Given the description of an element on the screen output the (x, y) to click on. 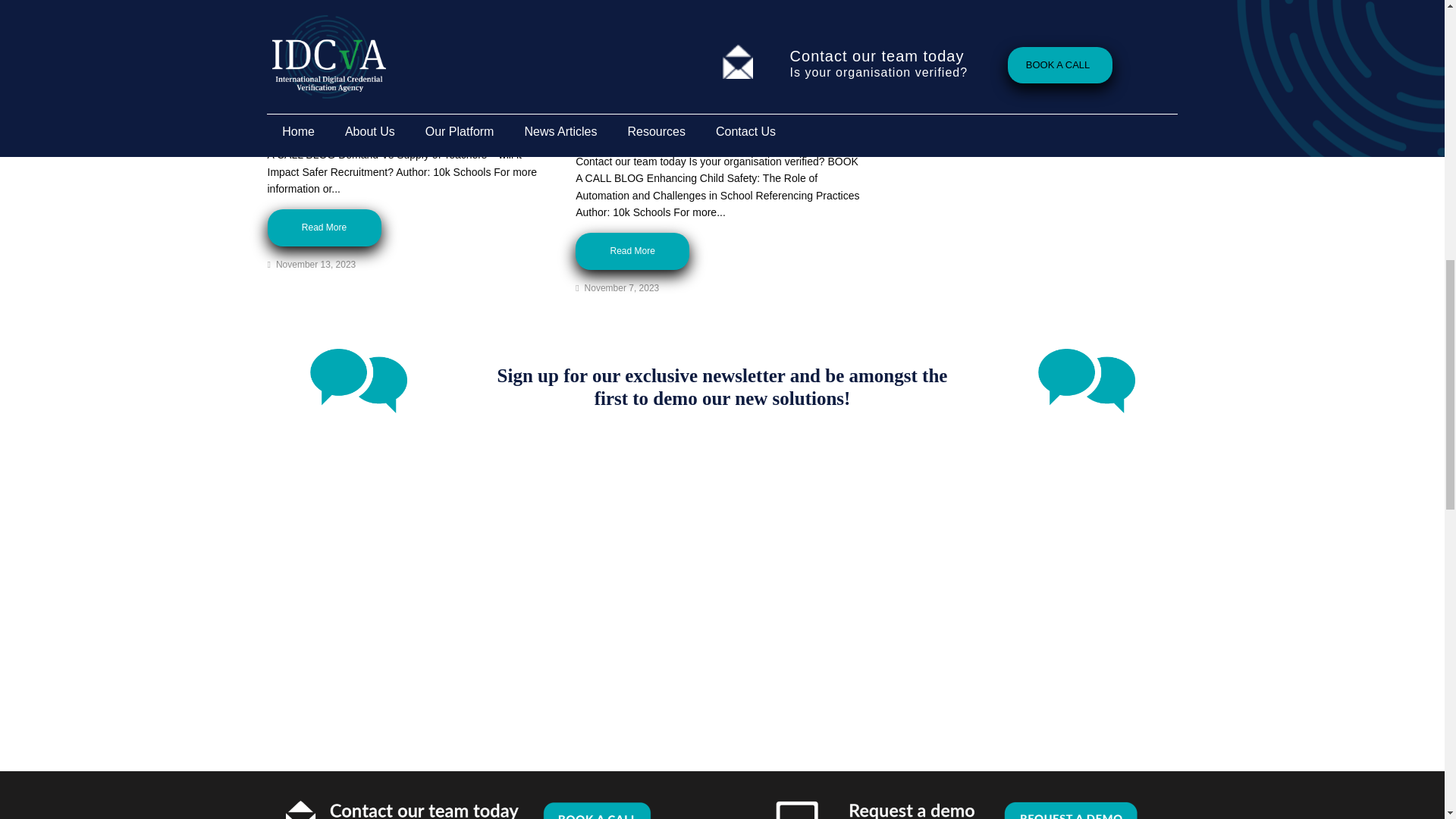
Read More (631, 251)
Read More (323, 227)
Form 0 (722, 567)
